Given the description of an element on the screen output the (x, y) to click on. 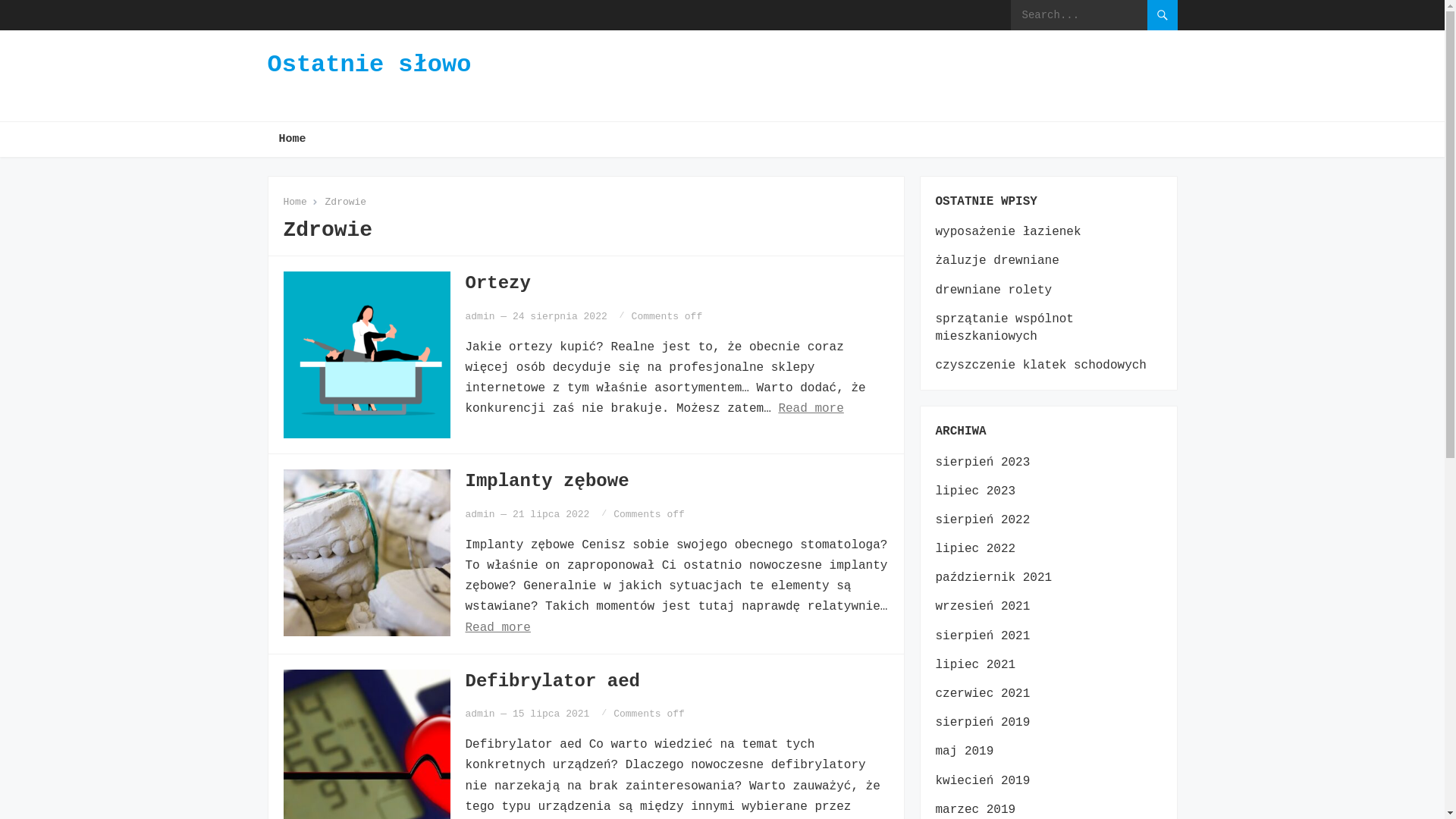
marzec 2019 Element type: text (975, 809)
lipiec 2023 Element type: text (975, 491)
czyszczenie klatek schodowych Element type: text (1040, 365)
admin Element type: text (480, 514)
Defibrylator aed Element type: text (552, 681)
czerwiec 2021 Element type: text (982, 693)
Ortezy Element type: text (497, 283)
Read more Element type: text (497, 627)
admin Element type: text (480, 316)
lipiec 2021 Element type: text (975, 664)
Read more Element type: text (810, 408)
maj 2019 Element type: text (964, 751)
Home Element type: text (291, 139)
Home Element type: text (300, 201)
drewniane rolety Element type: text (993, 290)
admin Element type: text (480, 713)
lipiec 2022 Element type: text (975, 548)
